Given the description of an element on the screen output the (x, y) to click on. 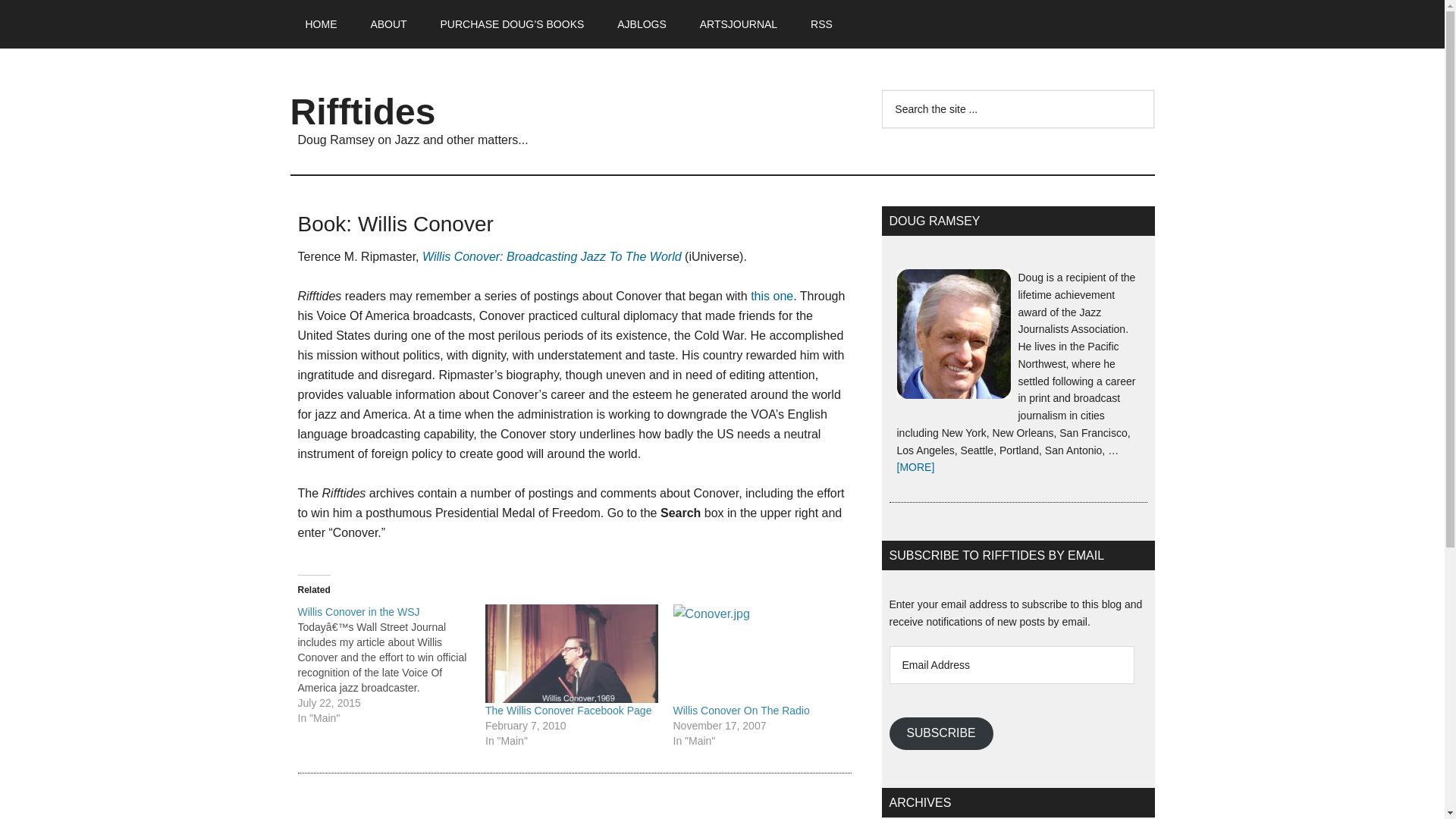
Willis Conover in the WSJ (358, 612)
Willis Conover On The Radio (740, 710)
ABOUT (388, 24)
Willis Conover in the WSJ (390, 664)
HOME (320, 24)
Willis Conover: Broadcasting Jazz To The World (551, 256)
Willis Conover On The Radio (740, 710)
The Willis Conover Facebook Page (571, 653)
